Given the description of an element on the screen output the (x, y) to click on. 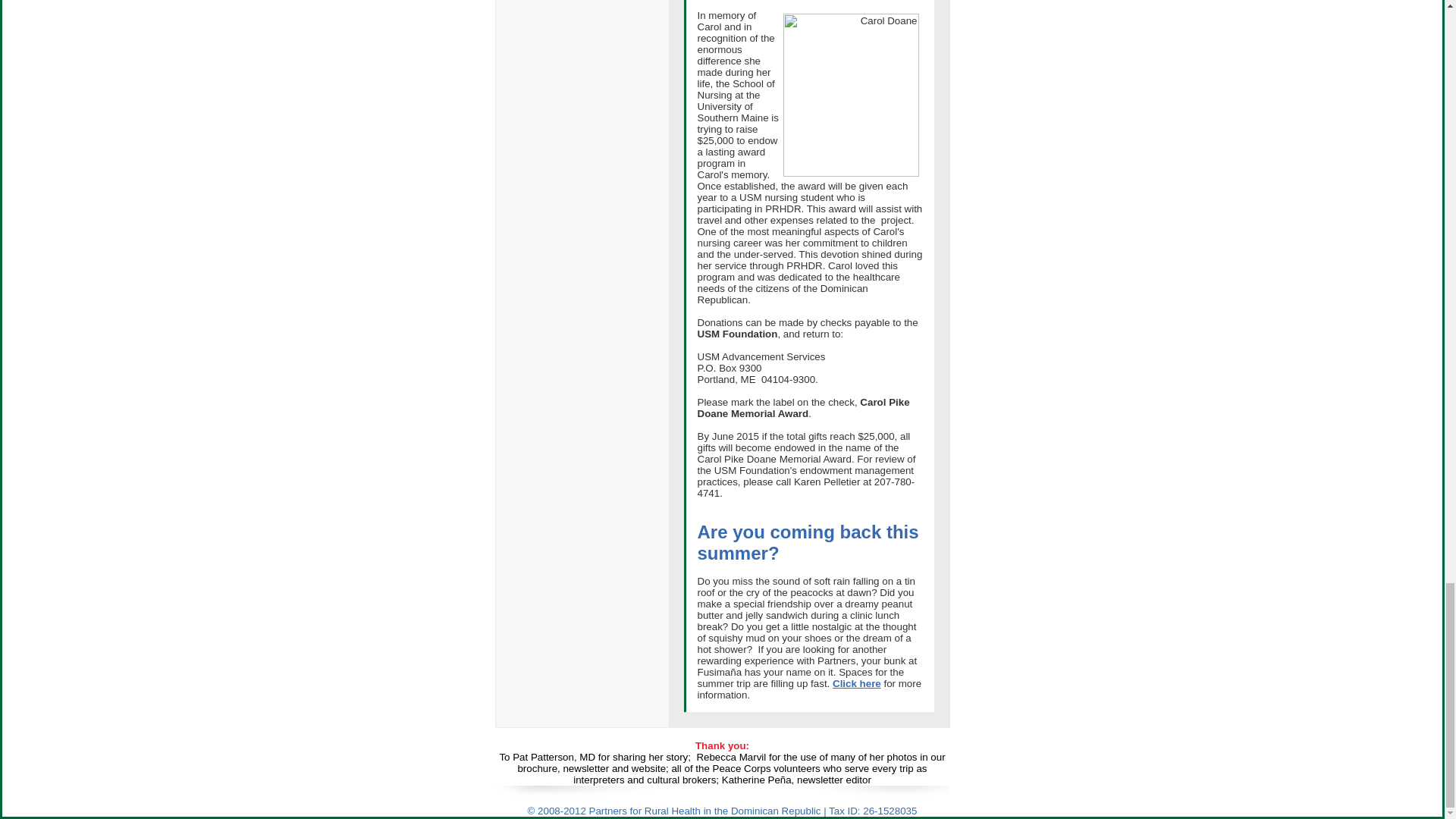
Click here (856, 683)
